Given the description of an element on the screen output the (x, y) to click on. 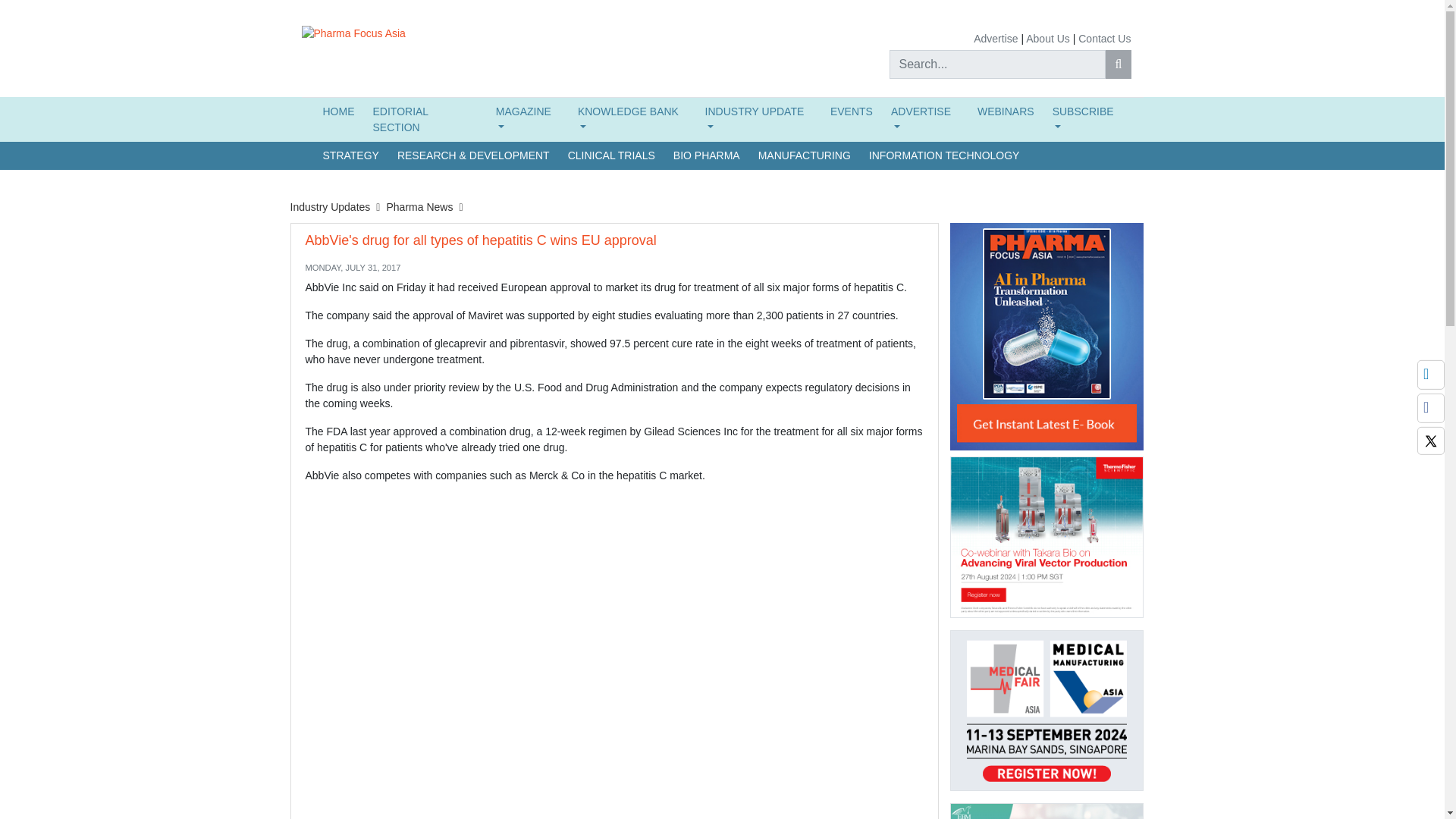
Thermo Fisher Scientific- Co-webinar with Takara Bio (1045, 537)
MAGAZINE (527, 119)
Advertise (995, 38)
About Us (1048, 38)
KNOWLEDGE BANK (632, 119)
4th Annual Cleaning Validation 2024 (1045, 811)
Advertise (995, 38)
EDITORIAL SECTION (425, 119)
WEBINARS (1005, 111)
Pharma Focus Asia (353, 33)
EVENTS (851, 111)
INDUSTRY UPDATE (758, 119)
ADVERTISE (925, 119)
About Us (1048, 38)
Contact Us (1104, 38)
